Given the description of an element on the screen output the (x, y) to click on. 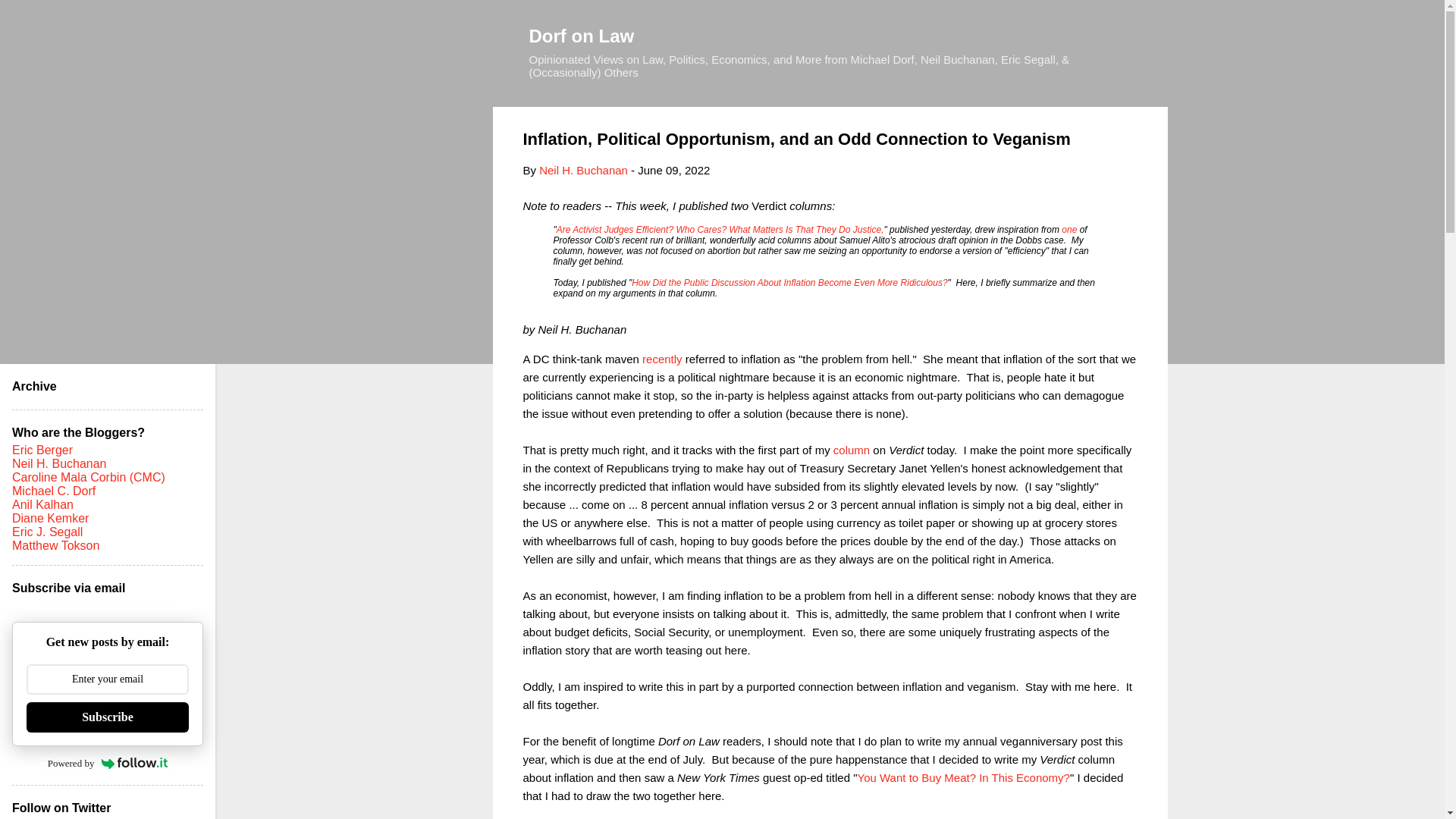
Search (29, 18)
author profile (582, 169)
recently (662, 358)
Dorf on Law (581, 35)
column (850, 449)
June 09, 2022 (673, 169)
You Want to Buy Meat? In This Economy? (963, 776)
one (1069, 229)
permanent link (673, 169)
Neil H. Buchanan (582, 169)
